Given the description of an element on the screen output the (x, y) to click on. 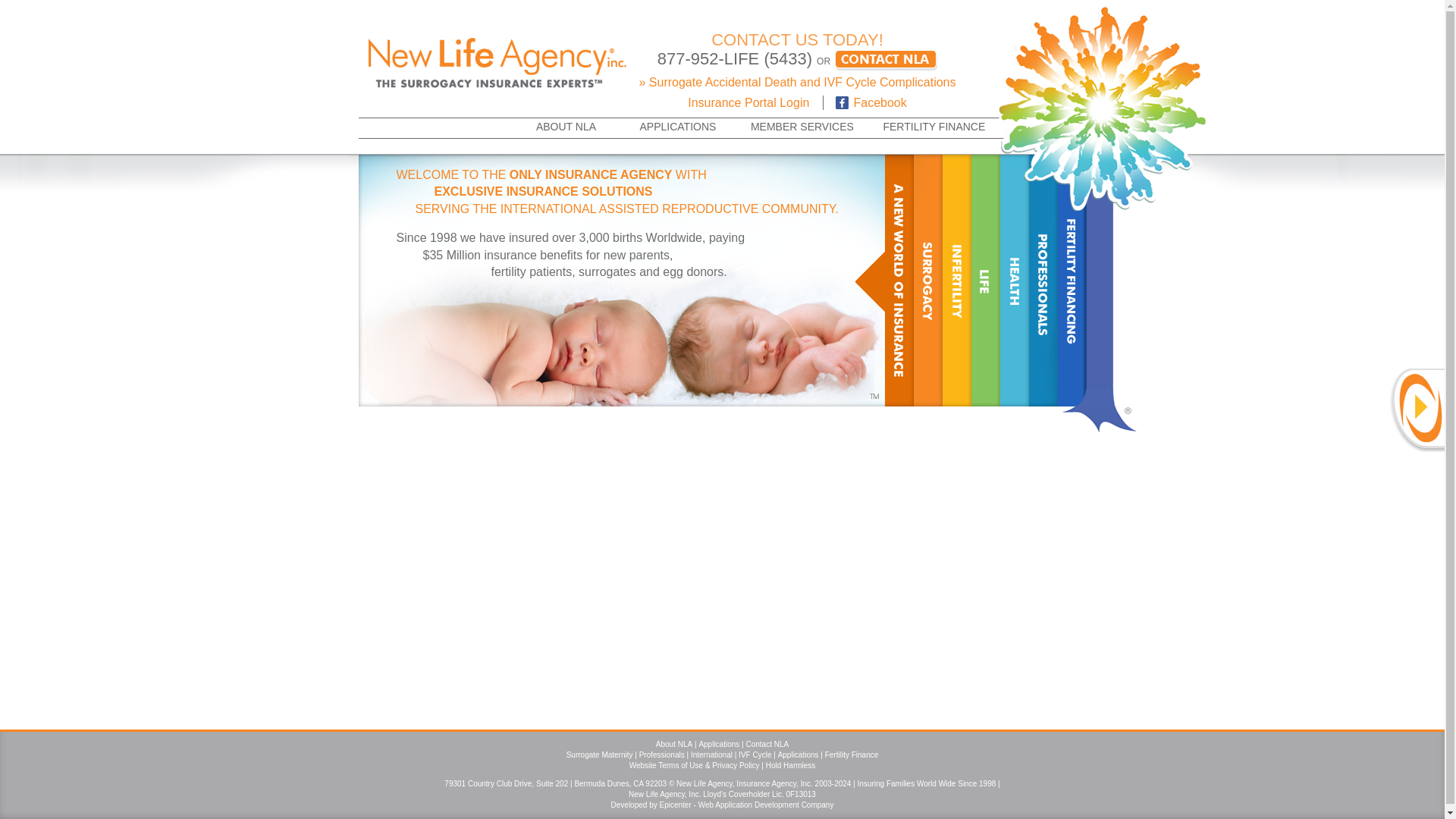
Epicenter (674, 804)
Facebook (863, 102)
READ MORE... (803, 256)
IVF Cycle (754, 755)
READ MORE... (842, 350)
READ MORE... (828, 387)
Web Application Development Company (766, 804)
New Life Agency (496, 59)
Hold Harmless (790, 765)
Fertility Finance (852, 755)
Surrogate Maternity (599, 755)
APPLICATIONS (677, 127)
READ MORE... (825, 379)
Contact NLA (767, 744)
MEMBER SERVICES (801, 127)
